Given the description of an element on the screen output the (x, y) to click on. 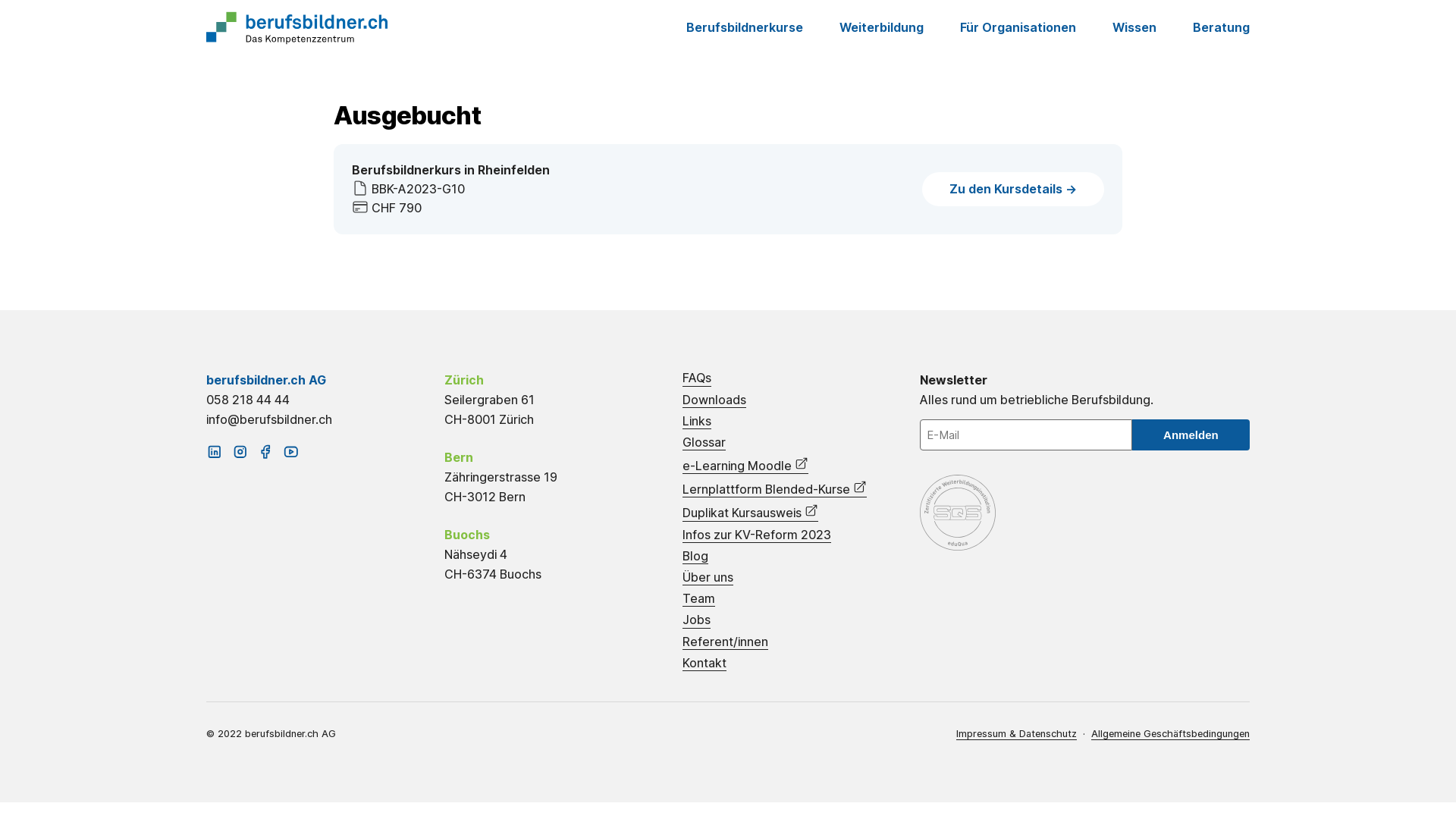
Glossar Element type: text (703, 442)
FAQs Element type: text (696, 377)
Impressum & Datenschutz Element type: text (1016, 734)
Duplikat Kursausweis Element type: text (750, 511)
Links Element type: text (696, 421)
Beratung Element type: text (1220, 28)
Zu den Kursdetails -> Element type: text (1013, 189)
Startseite Element type: text (296, 27)
Referent/innen Element type: text (725, 641)
Wissen Element type: text (1134, 28)
Jobs Element type: text (696, 619)
Blog Element type: text (695, 556)
Team Element type: text (698, 598)
Berufsbildnerkurse Element type: text (744, 28)
Downloads Element type: text (714, 399)
Infos zur KV-Reform 2023 Element type: text (756, 534)
Anmelden Element type: text (1190, 434)
Lernplattform Blended-Kurse Element type: text (774, 488)
Kontakt Element type: text (704, 663)
Weiterbildung Element type: text (881, 28)
e-Learning Moodle Element type: text (745, 464)
